Given the description of an element on the screen output the (x, y) to click on. 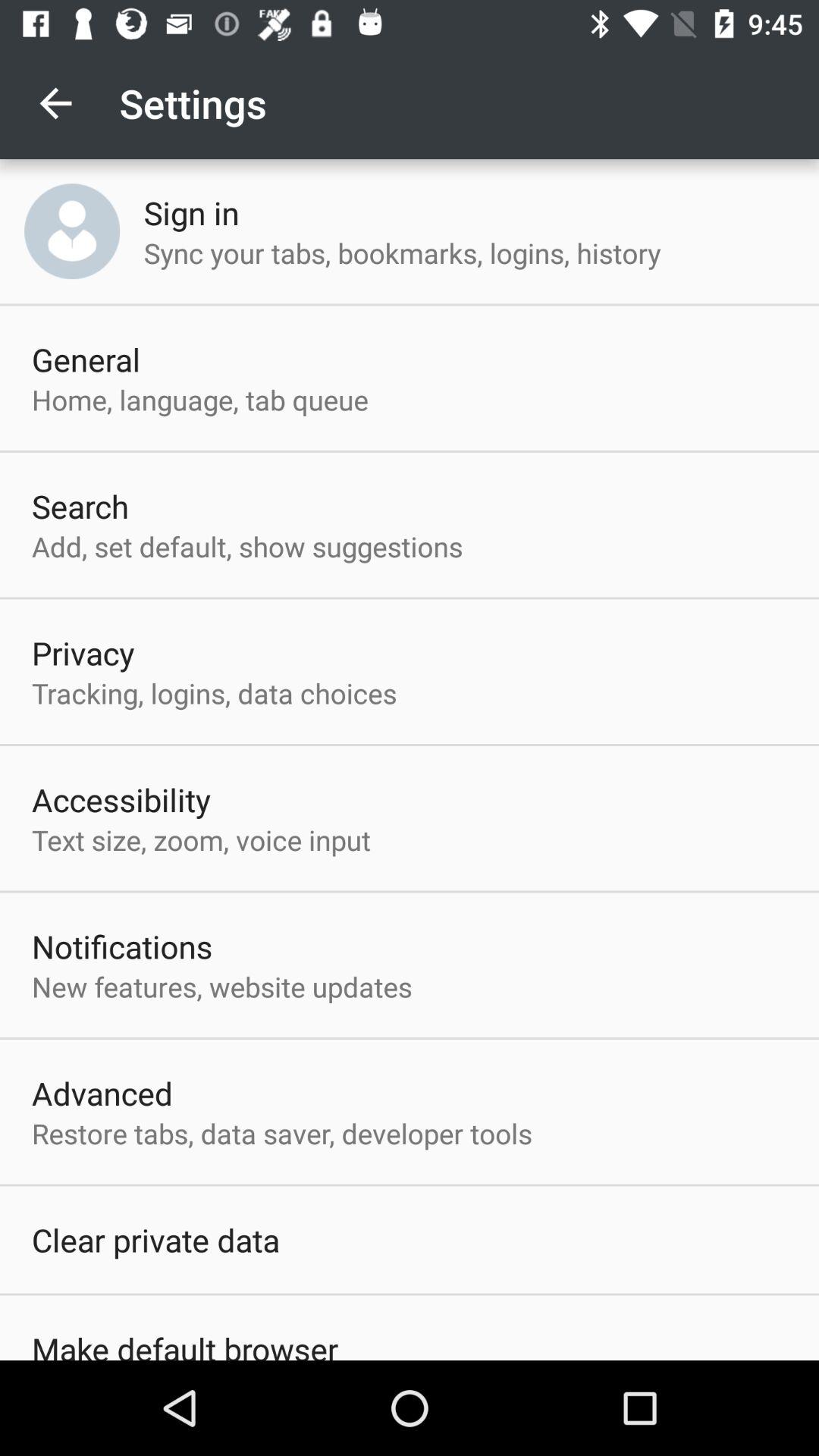
click the item above notifications item (200, 839)
